Given the description of an element on the screen output the (x, y) to click on. 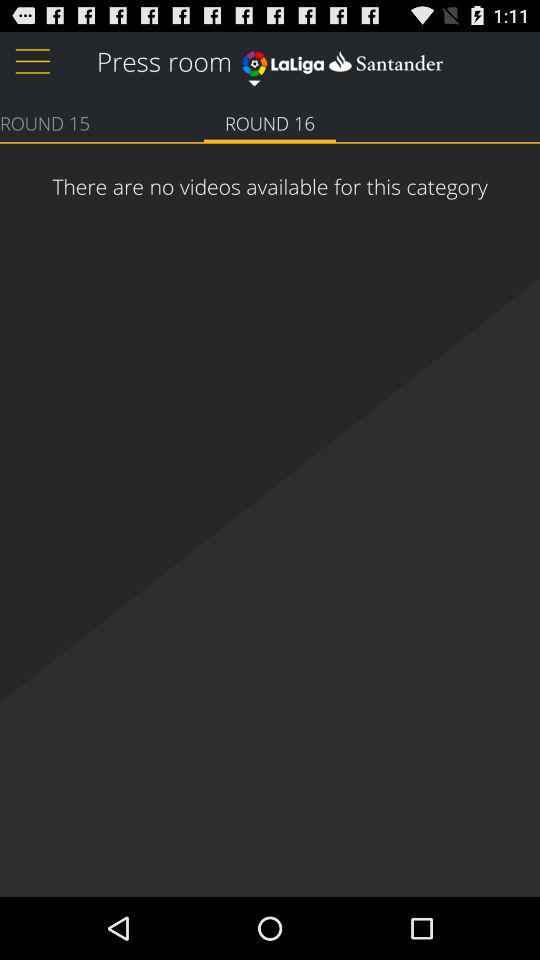
select app next to the round 16 item (45, 122)
